Given the description of an element on the screen output the (x, y) to click on. 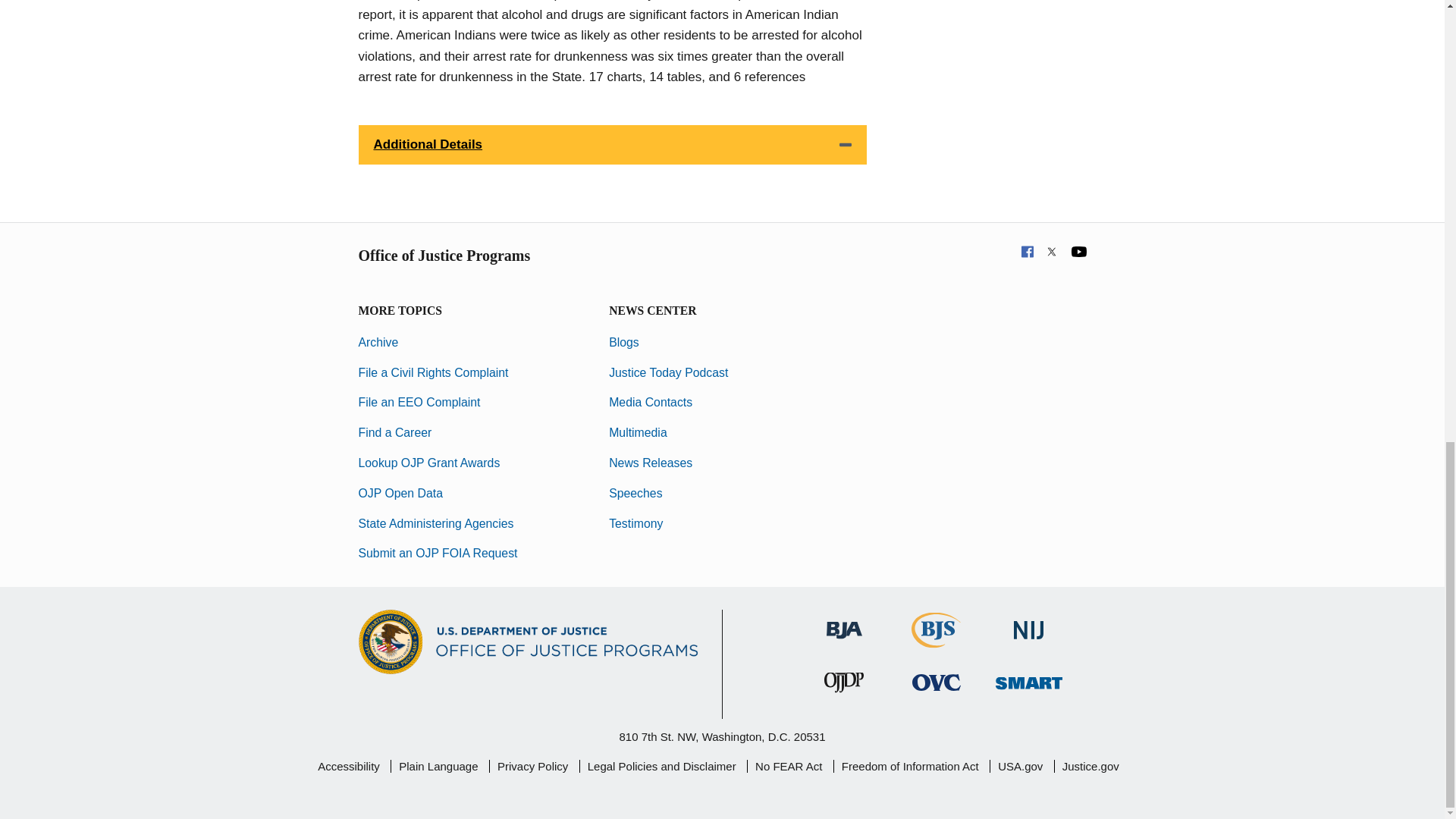
File a Civil Rights Complaint (433, 372)
Additional Details (612, 144)
File an EEO Complaint (419, 401)
Archive (377, 341)
Find a Career (394, 431)
